Given the description of an element on the screen output the (x, y) to click on. 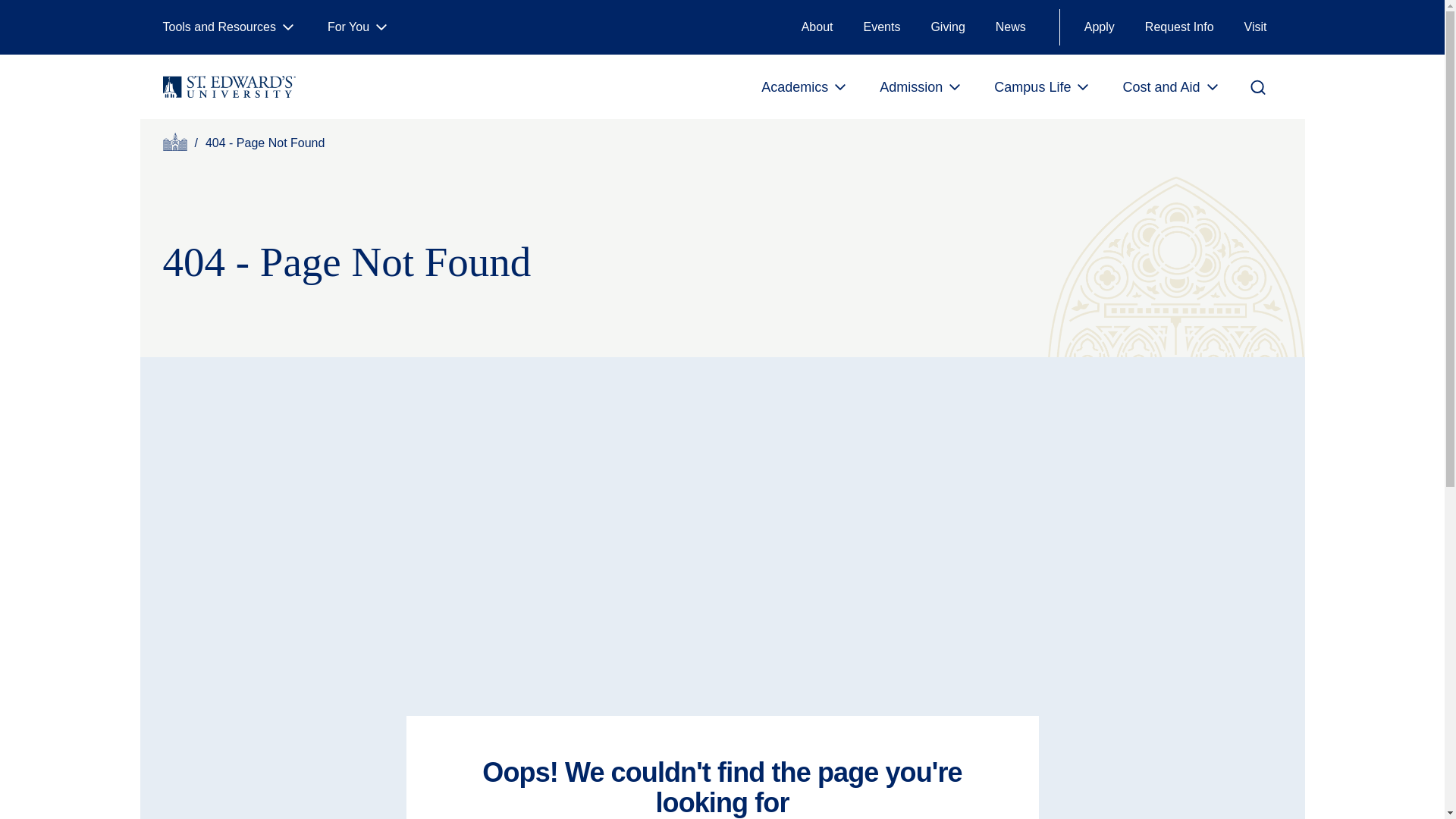
Skip to main content (69, 18)
For You (358, 27)
Giving (947, 27)
About (817, 27)
News (1010, 27)
Events (881, 27)
Request Info (1178, 27)
Apply (1098, 27)
Tools and Resources (229, 27)
Academics (804, 87)
